Given the description of an element on the screen output the (x, y) to click on. 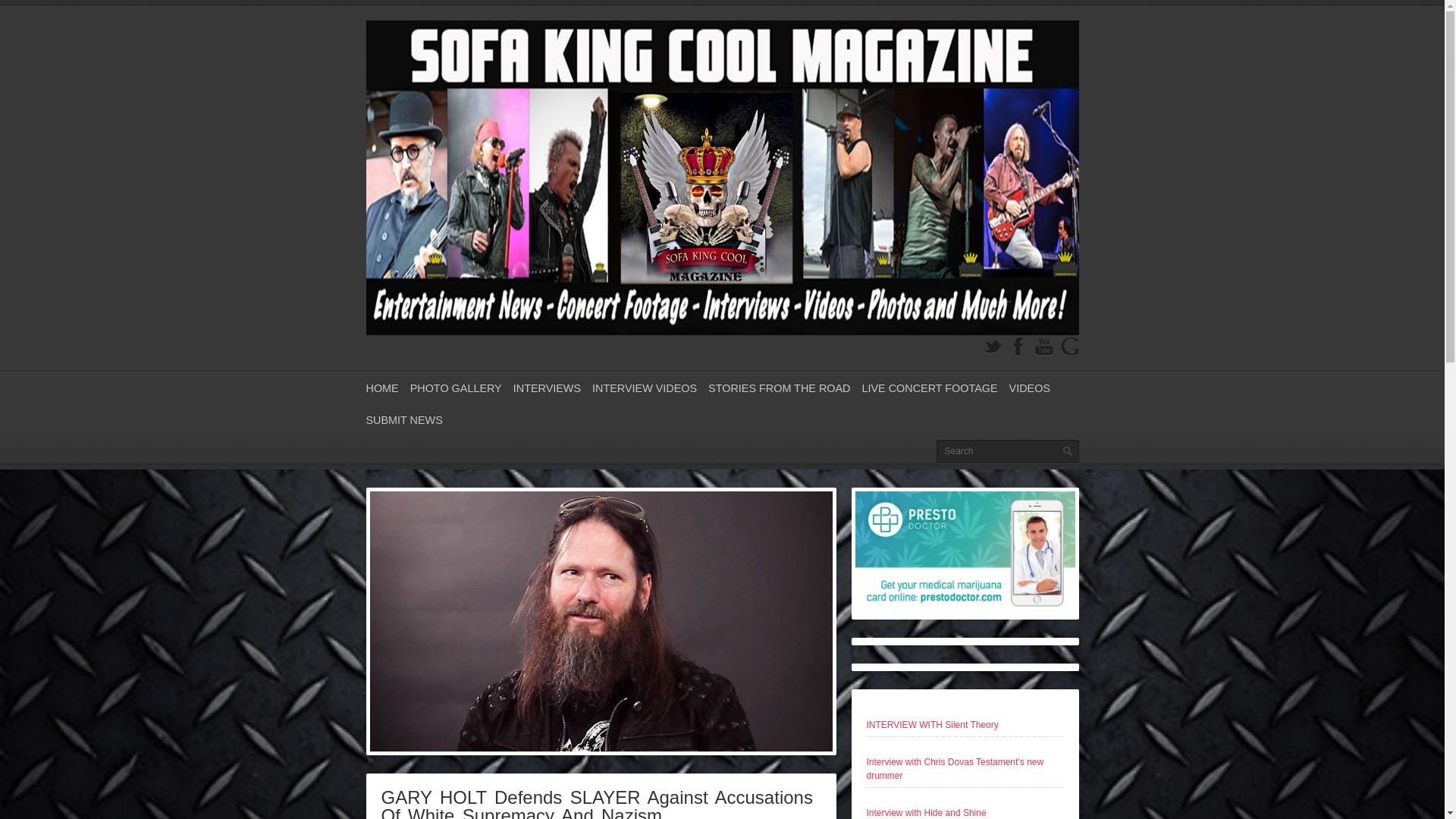
YouTube (1042, 346)
Interview with Hide and Shine (925, 812)
SUBMIT NEWS (403, 419)
LIVE CONCERT FOOTAGE (929, 388)
Google (1068, 346)
PHOTO GALLERY (456, 388)
HOME (381, 388)
VIDEOS (1029, 388)
INTERVIEW WITH Silent Theory (931, 724)
Twitter (991, 346)
